Given the description of an element on the screen output the (x, y) to click on. 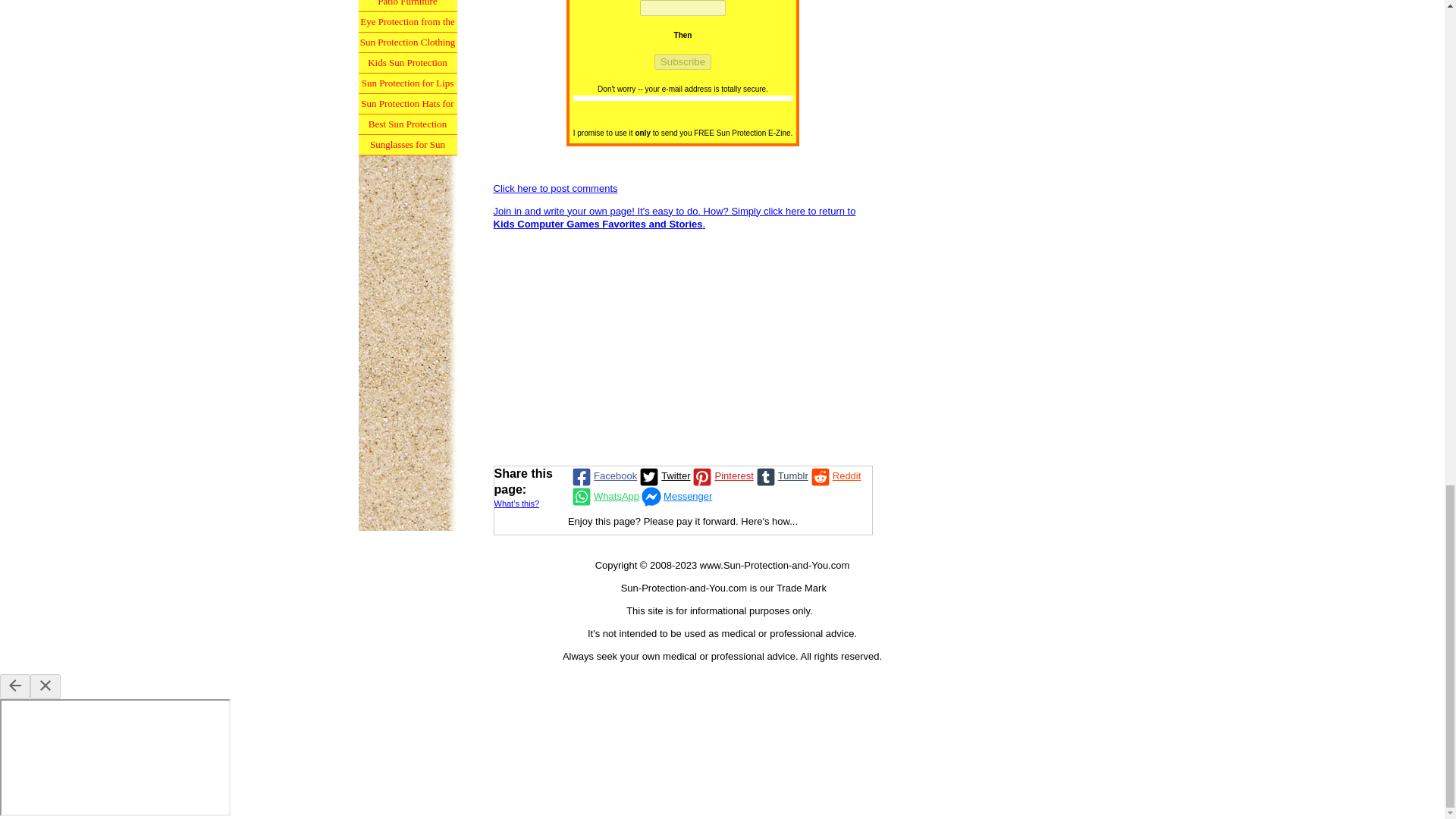
Facebook (603, 476)
Tumblr (781, 476)
Reddit (834, 476)
Messenger (675, 496)
Subscribe (682, 61)
Pinterest (721, 476)
Click here to post comments (555, 188)
Advertisement (681, 346)
Twitter (663, 476)
